Given the description of an element on the screen output the (x, y) to click on. 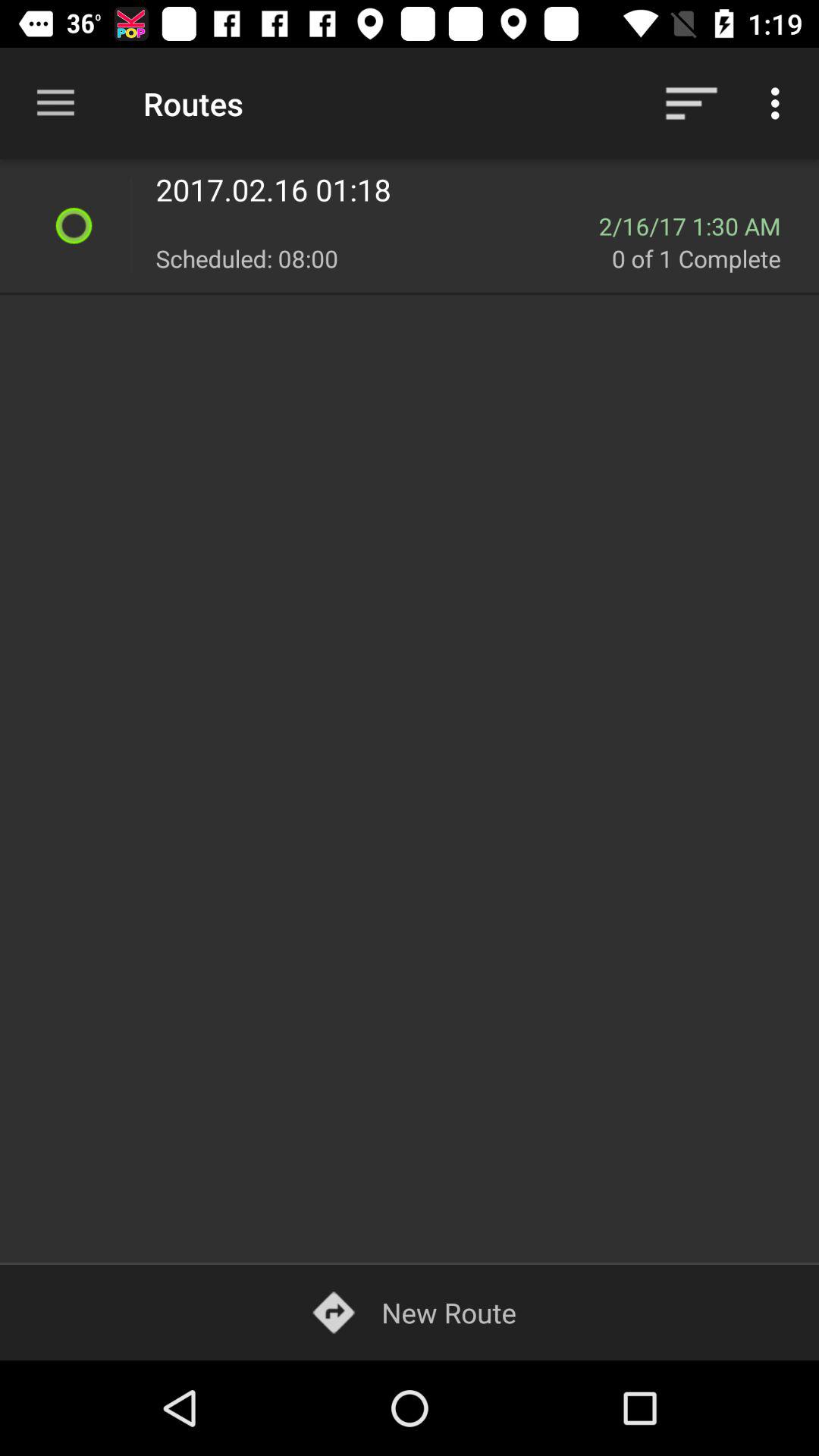
launch the item below 2017 02 16 item (376, 225)
